Given the description of an element on the screen output the (x, y) to click on. 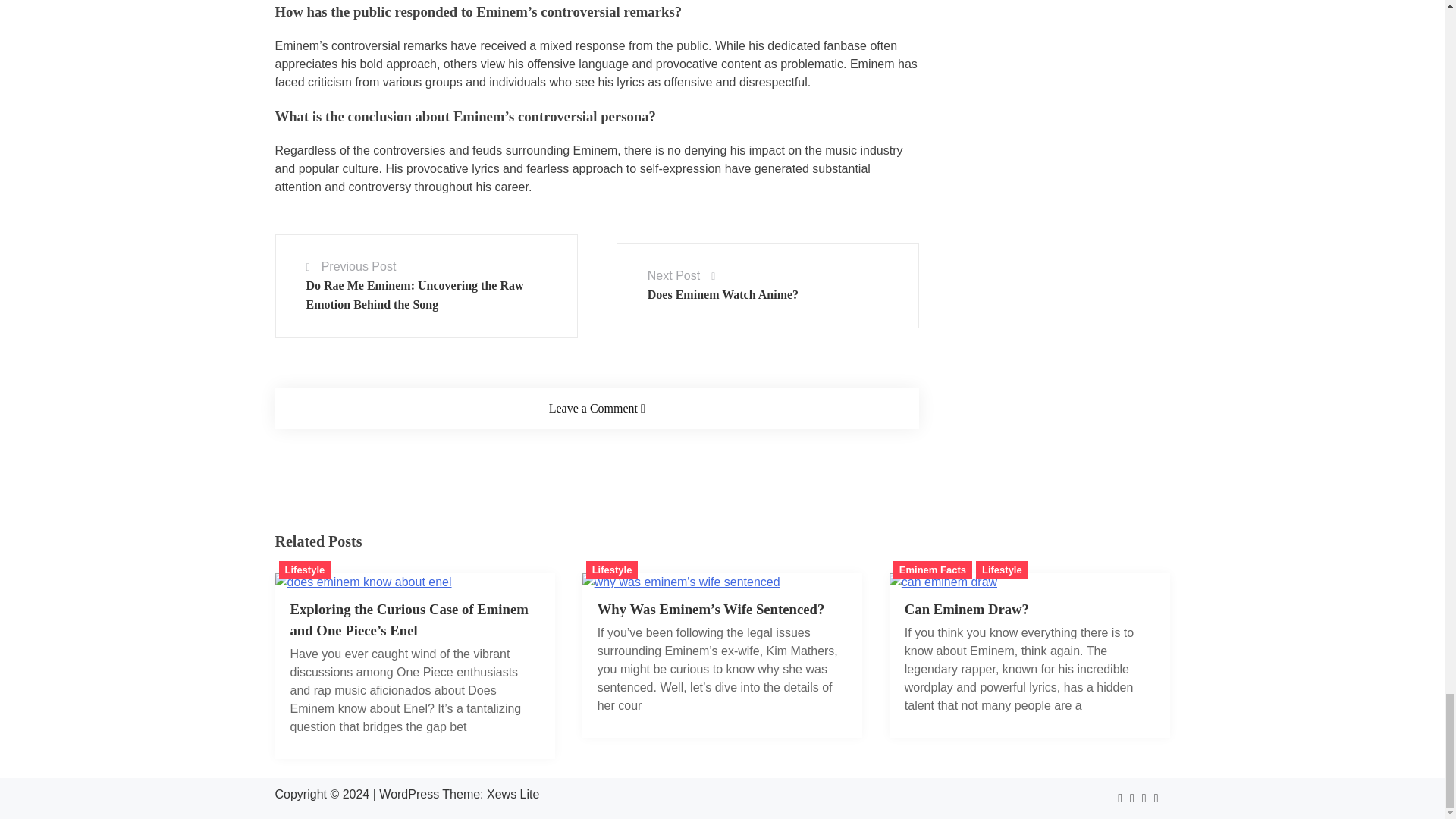
Does Eminem Watch Anime? (722, 294)
Eminem Facts (932, 570)
Next Post (673, 275)
Can Eminem Draw? (966, 609)
Can Eminem Draw? (943, 581)
Lifestyle (305, 570)
Previous Post (358, 266)
Lifestyle (1001, 570)
Lifestyle (612, 570)
Xews Lite (512, 793)
Do Rae Me Eminem: Uncovering the Raw Emotion Behind the Song (414, 294)
